Given the description of an element on the screen output the (x, y) to click on. 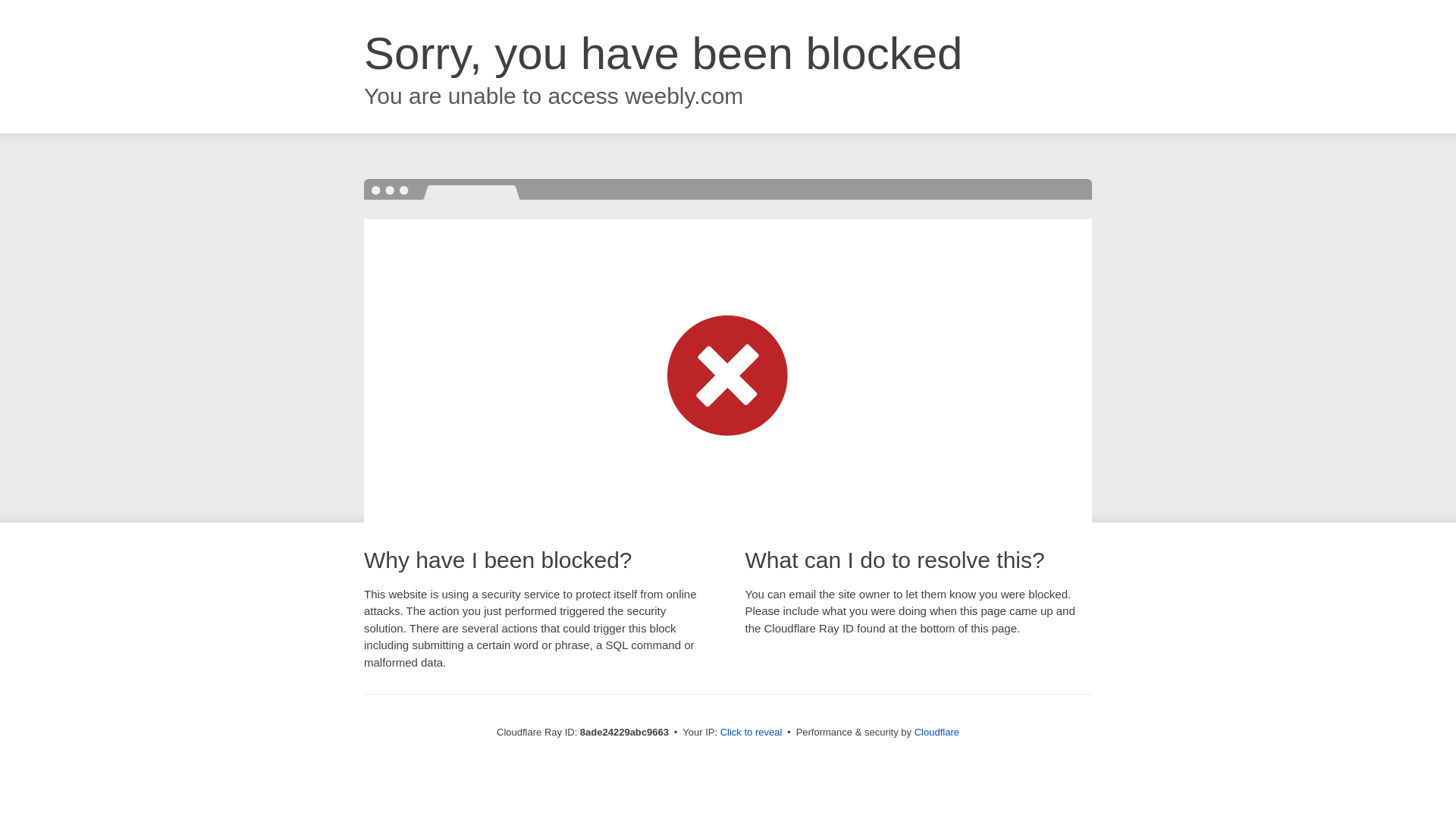
Click to reveal (751, 732)
Cloudflare (936, 731)
